Given the description of an element on the screen output the (x, y) to click on. 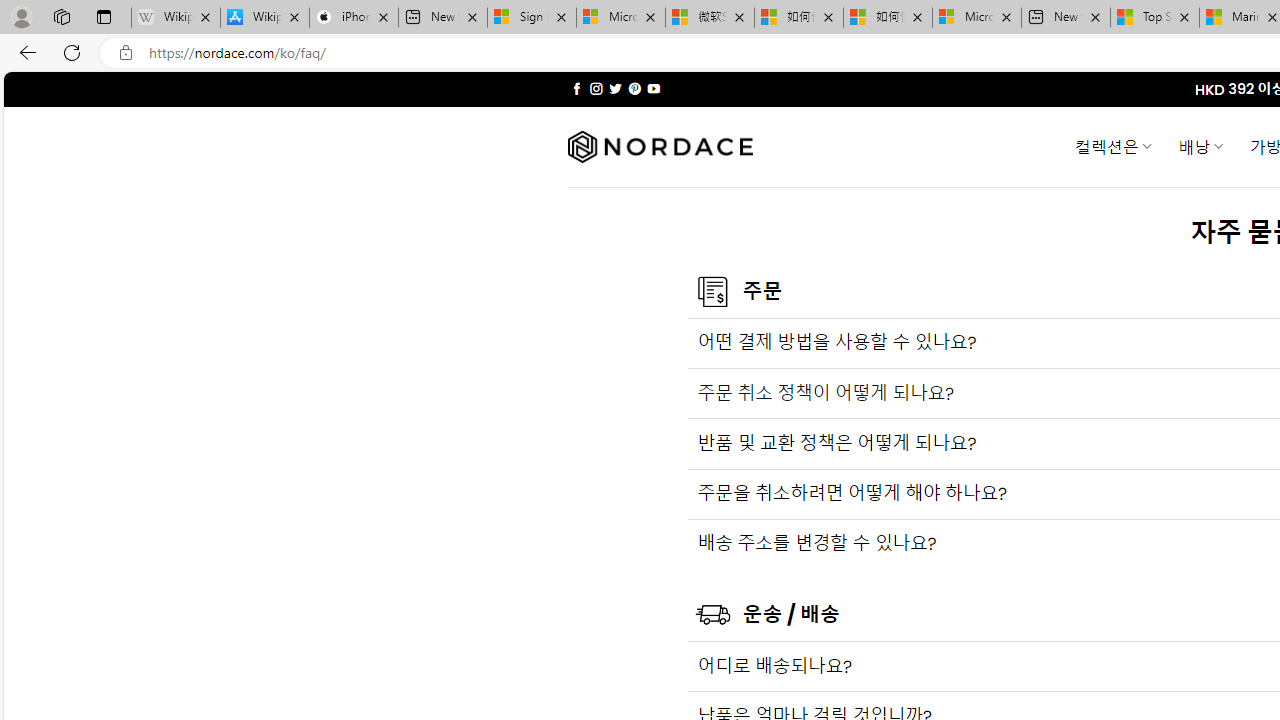
Follow on Instagram (596, 88)
Follow on Twitter (615, 88)
Follow on Pinterest (634, 88)
iPhone - Apple (353, 17)
